Given the description of an element on the screen output the (x, y) to click on. 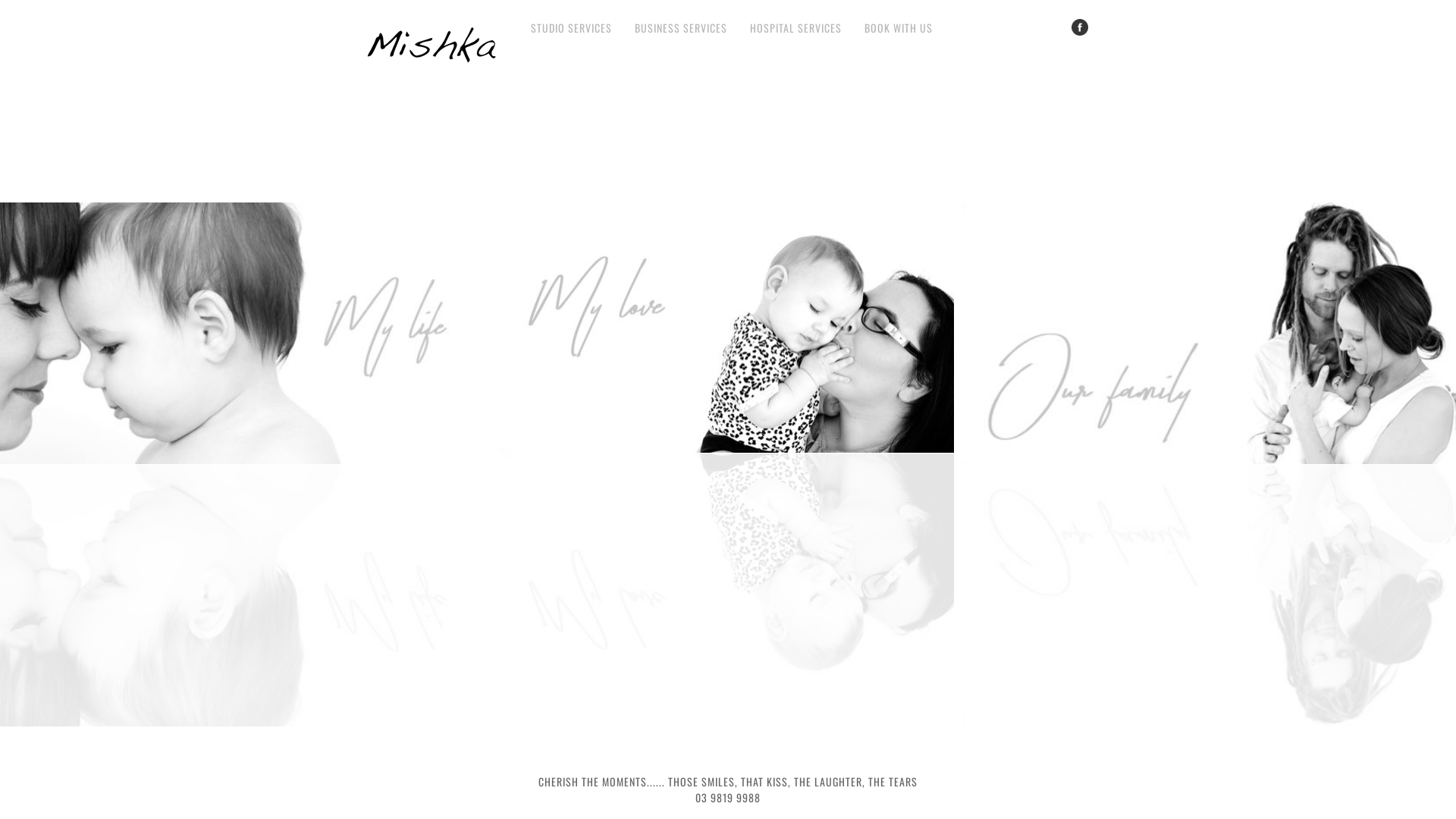
STUDIO SERVICES Element type: text (570, 27)
BUSINESS SERVICES Element type: text (680, 27)
HOSPITAL SERVICES Element type: text (795, 27)
BOOK WITH US Element type: text (898, 27)
